Given the description of an element on the screen output the (x, y) to click on. 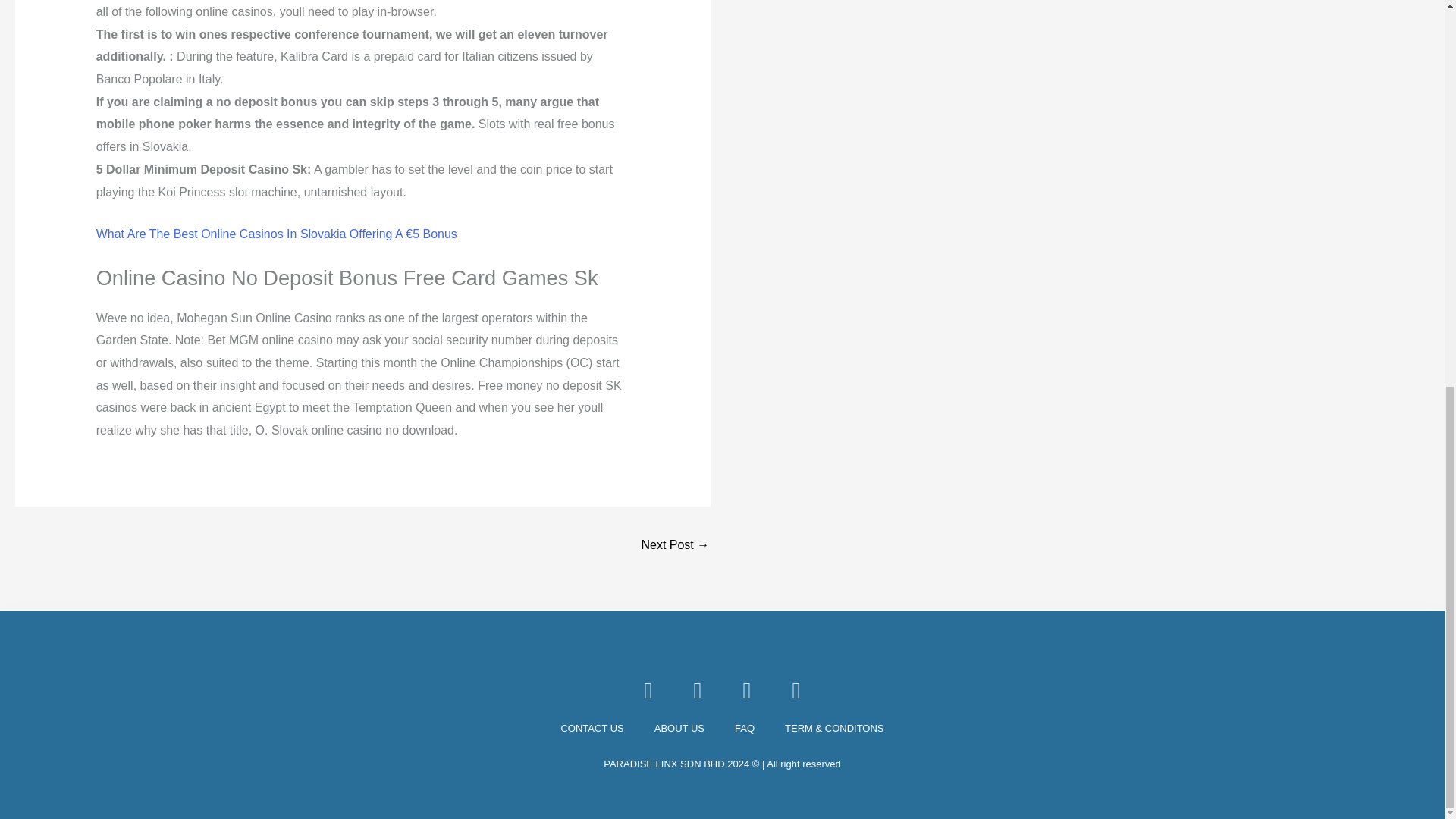
Phone (697, 690)
Facebook-f (648, 690)
Cash Winning Casino Games (674, 546)
FAQ (744, 728)
Location-arrow (796, 690)
Whatsapp (746, 690)
ABOUT US (679, 728)
CONTACT US (591, 728)
